Given the description of an element on the screen output the (x, y) to click on. 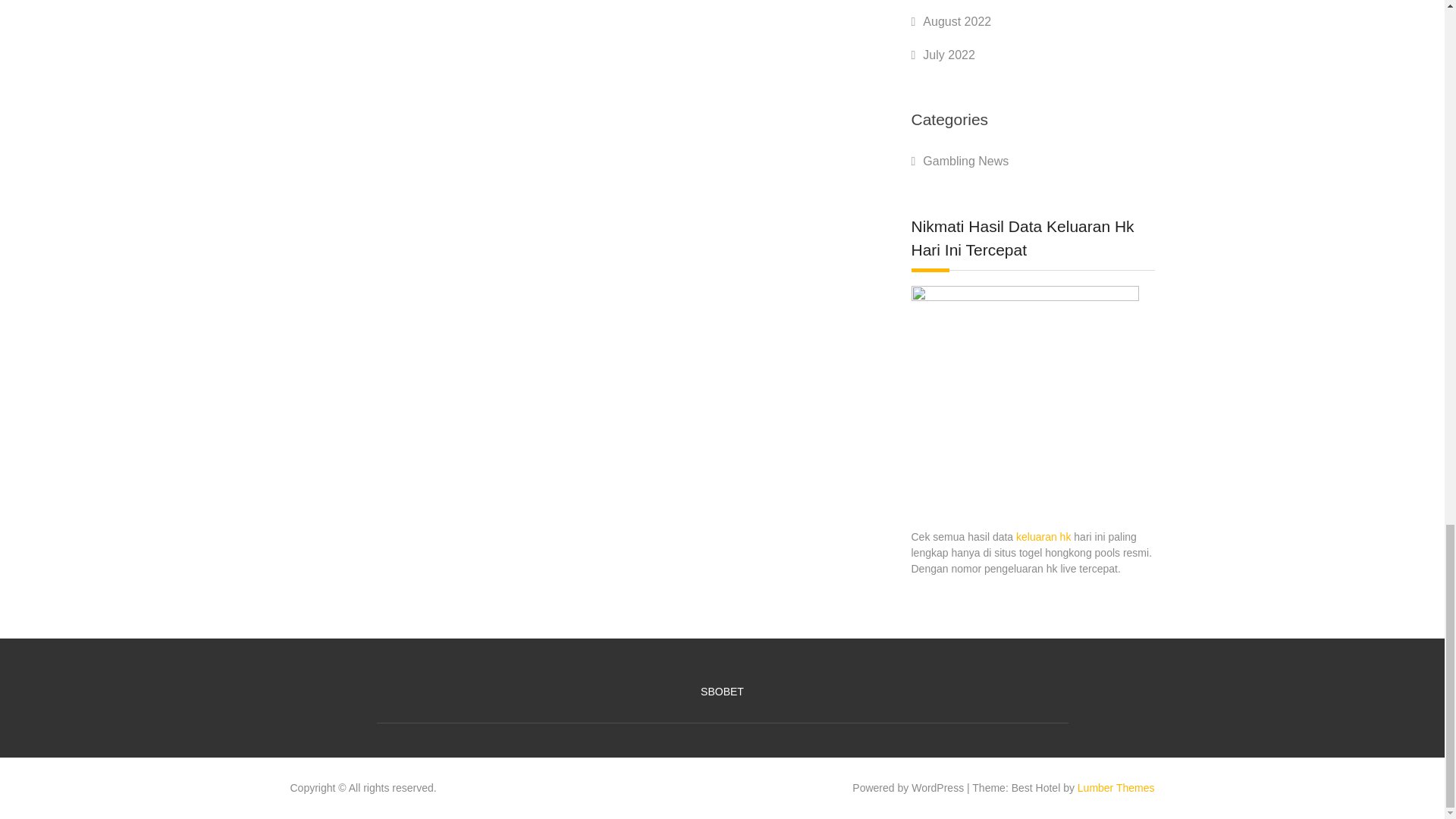
July 2022 (949, 54)
Gambling News (966, 160)
August 2022 (957, 21)
